Given the description of an element on the screen output the (x, y) to click on. 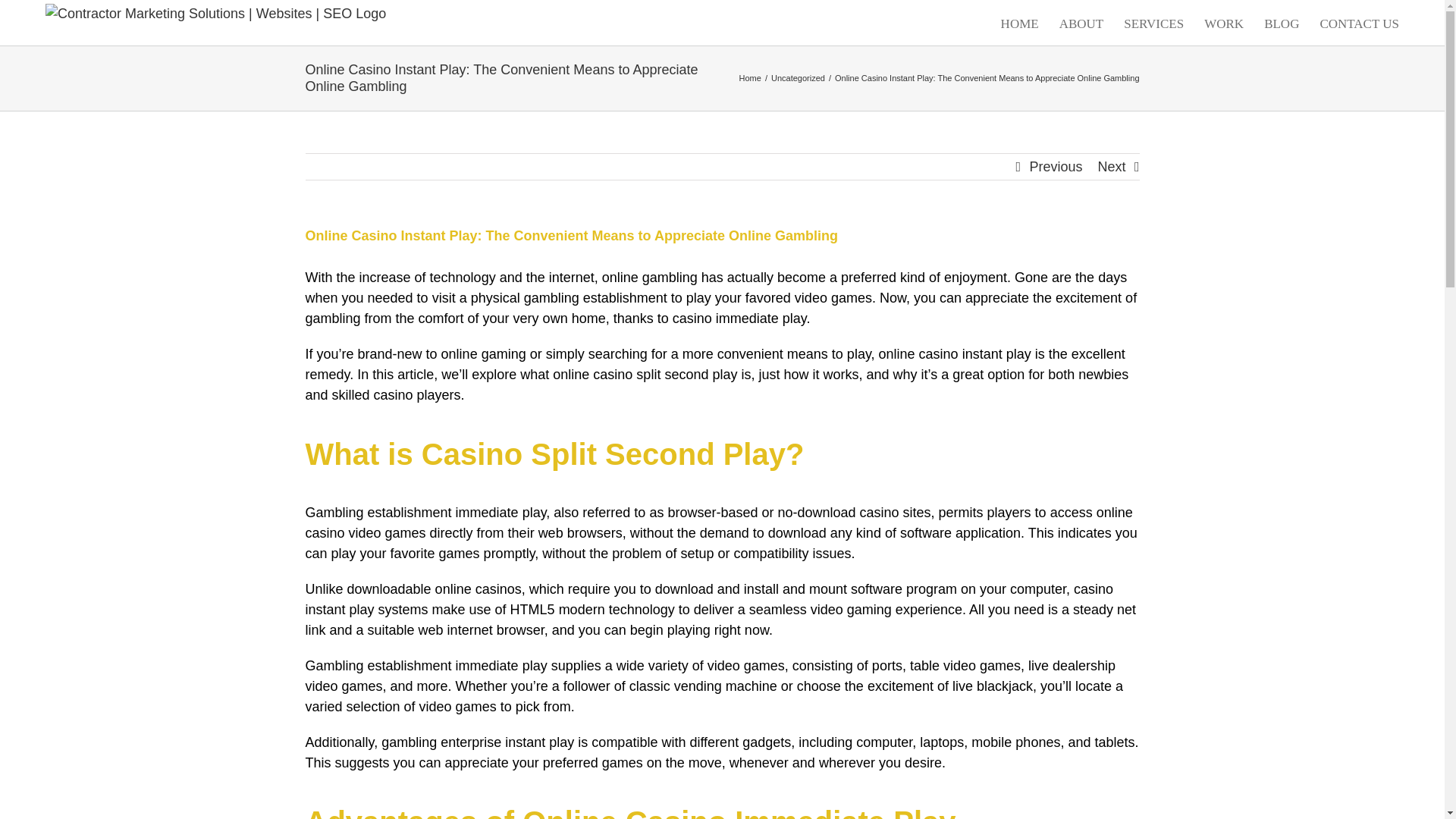
CONTACT US (1359, 22)
Uncategorized (798, 77)
SERVICES (1153, 22)
Home (750, 77)
Previous (1055, 166)
Next (1111, 166)
ABOUT (1081, 22)
